Given the description of an element on the screen output the (x, y) to click on. 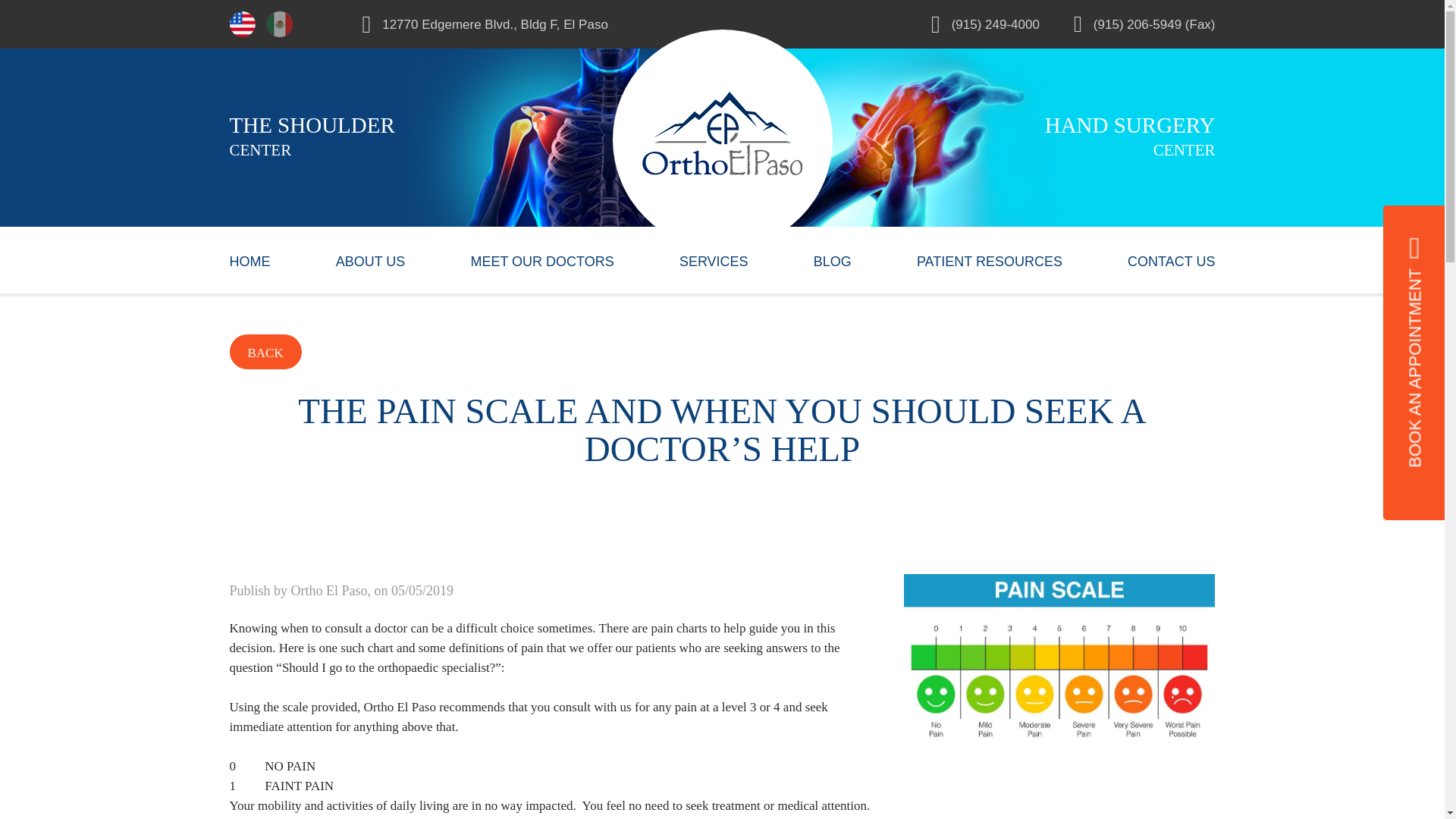
Language: Spanish language (279, 23)
Language: English language (241, 23)
MEET OUR DOCTORS (541, 259)
SERVICES (713, 259)
ABOUT US (371, 259)
Language: English language (242, 23)
CONTACT US (1170, 259)
PATIENT RESOURCES (989, 259)
12770 Edgemere Blvd., Bldg F, El Paso (542, 24)
